Given the description of an element on the screen output the (x, y) to click on. 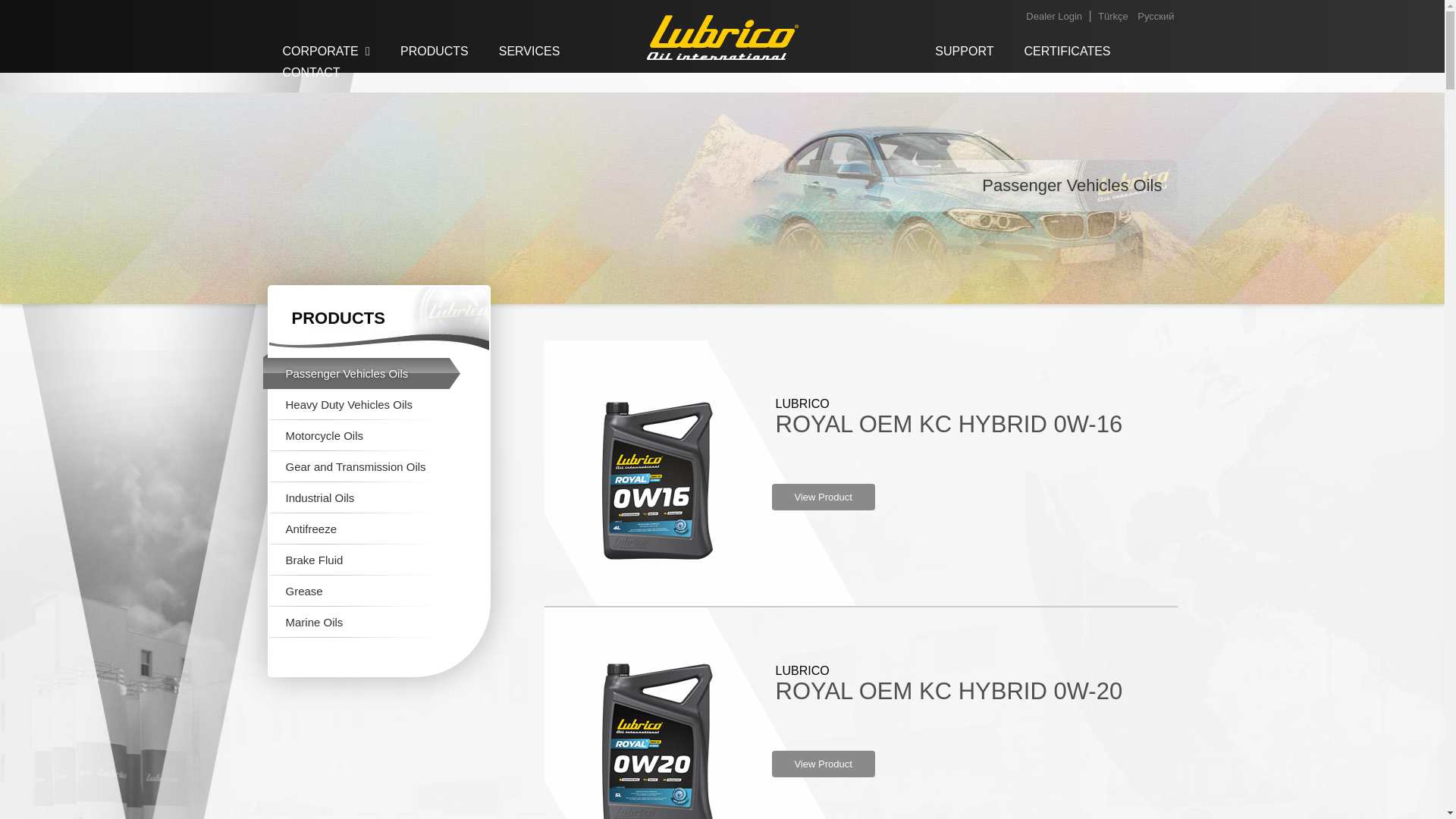
View Product (823, 764)
View Product (823, 497)
Gear and Transmission Oils (361, 466)
Passenger Vehicles Oils (361, 373)
SUPPORT (964, 51)
Antifreeze (361, 528)
Grease (361, 590)
CERTIFICATES (1067, 51)
Heavy Duty Vehicles Oils (361, 404)
Motorcycle Oils (361, 435)
ROYAL OEM KC HYBRID 0W-16 (948, 424)
Brake Fluid (361, 559)
CORPORATE (326, 51)
Marine Oils (361, 622)
PRODUCTS (434, 51)
